Given the description of an element on the screen output the (x, y) to click on. 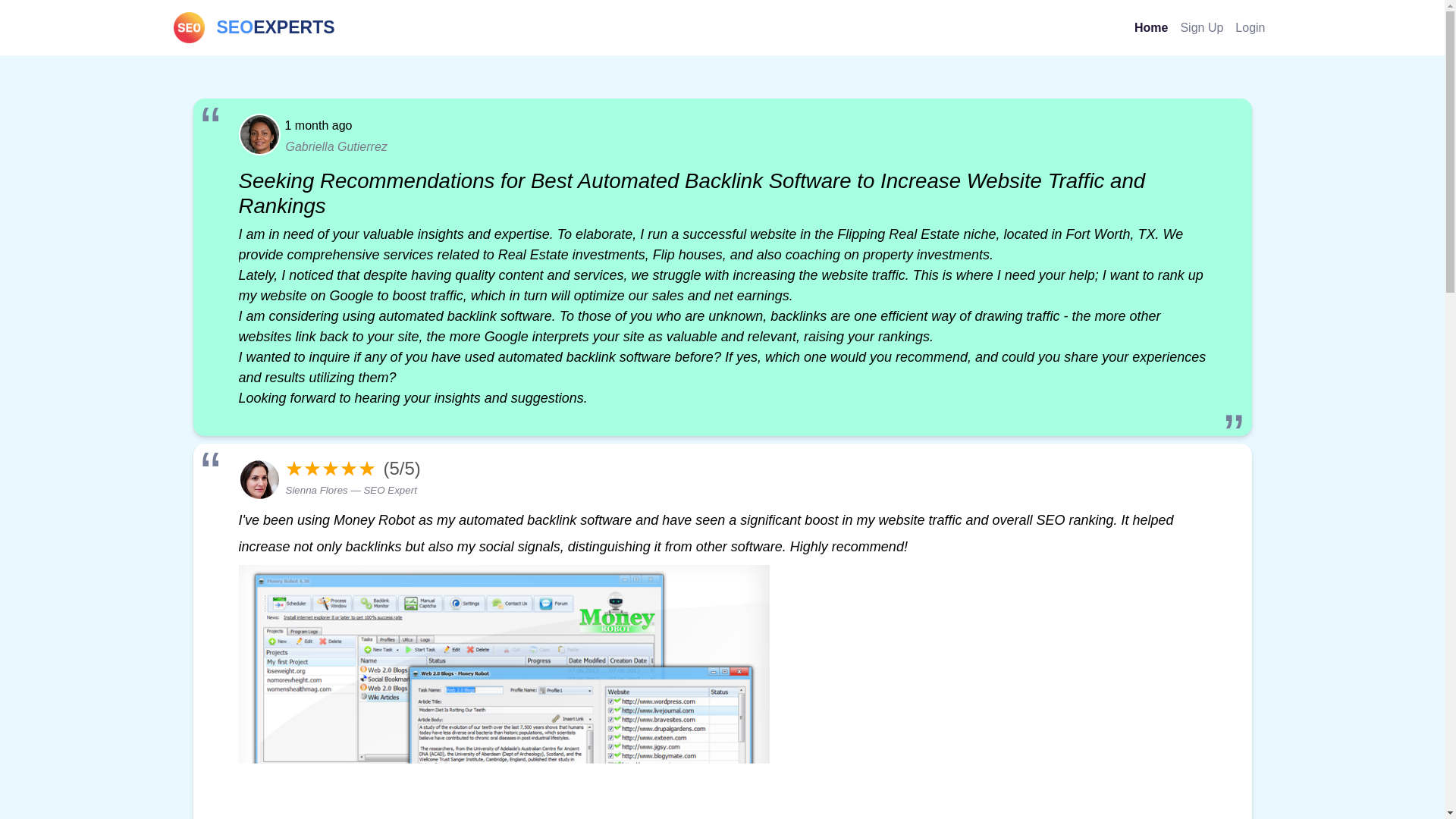
Home (1150, 27)
Sign Up (1200, 27)
Login (253, 27)
